Given the description of an element on the screen output the (x, y) to click on. 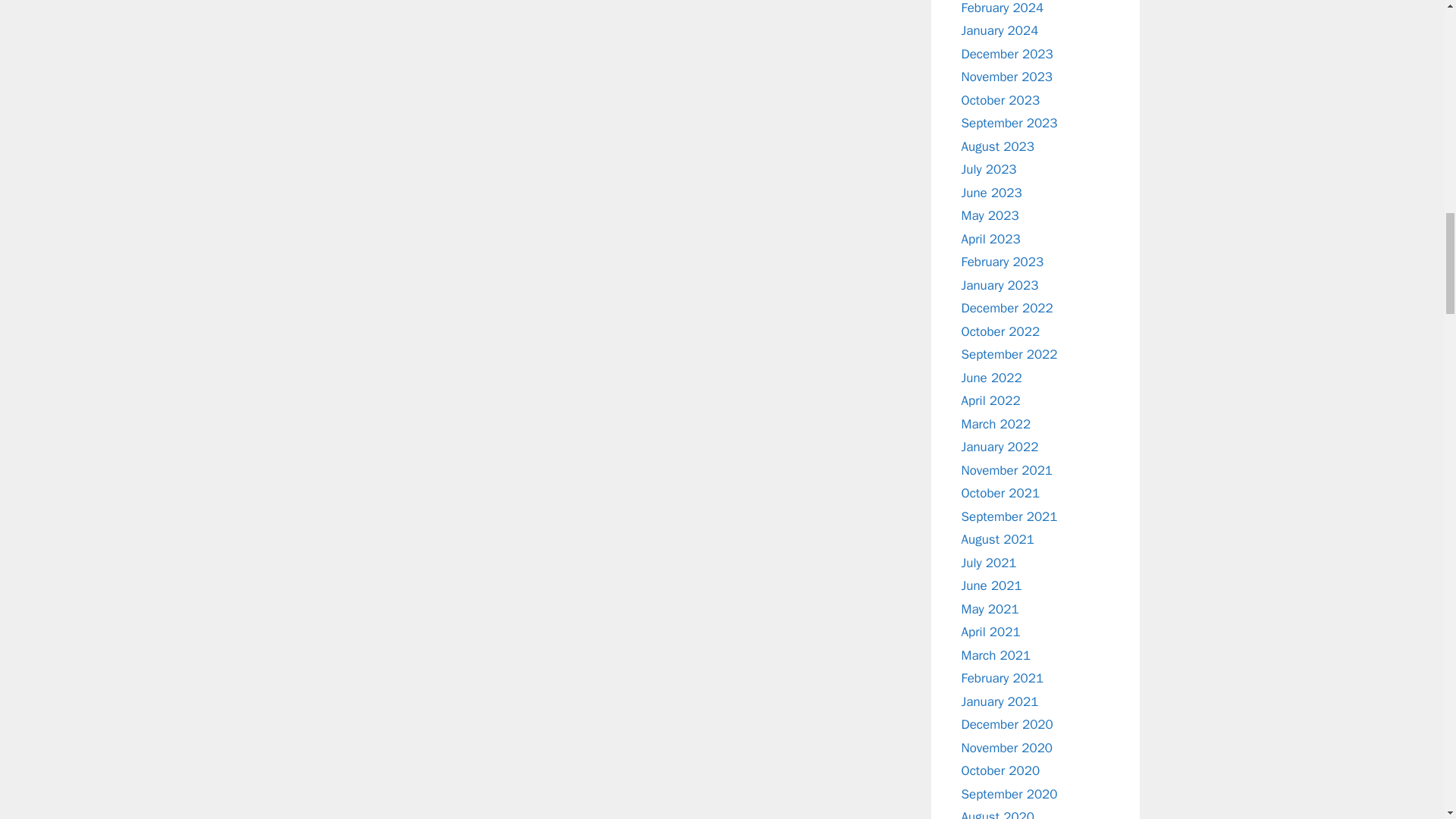
January 2024 (999, 30)
December 2023 (1006, 53)
November 2023 (1006, 76)
October 2023 (1000, 100)
July 2023 (988, 169)
September 2023 (1009, 123)
June 2023 (991, 192)
August 2023 (996, 145)
February 2024 (1001, 7)
